Given the description of an element on the screen output the (x, y) to click on. 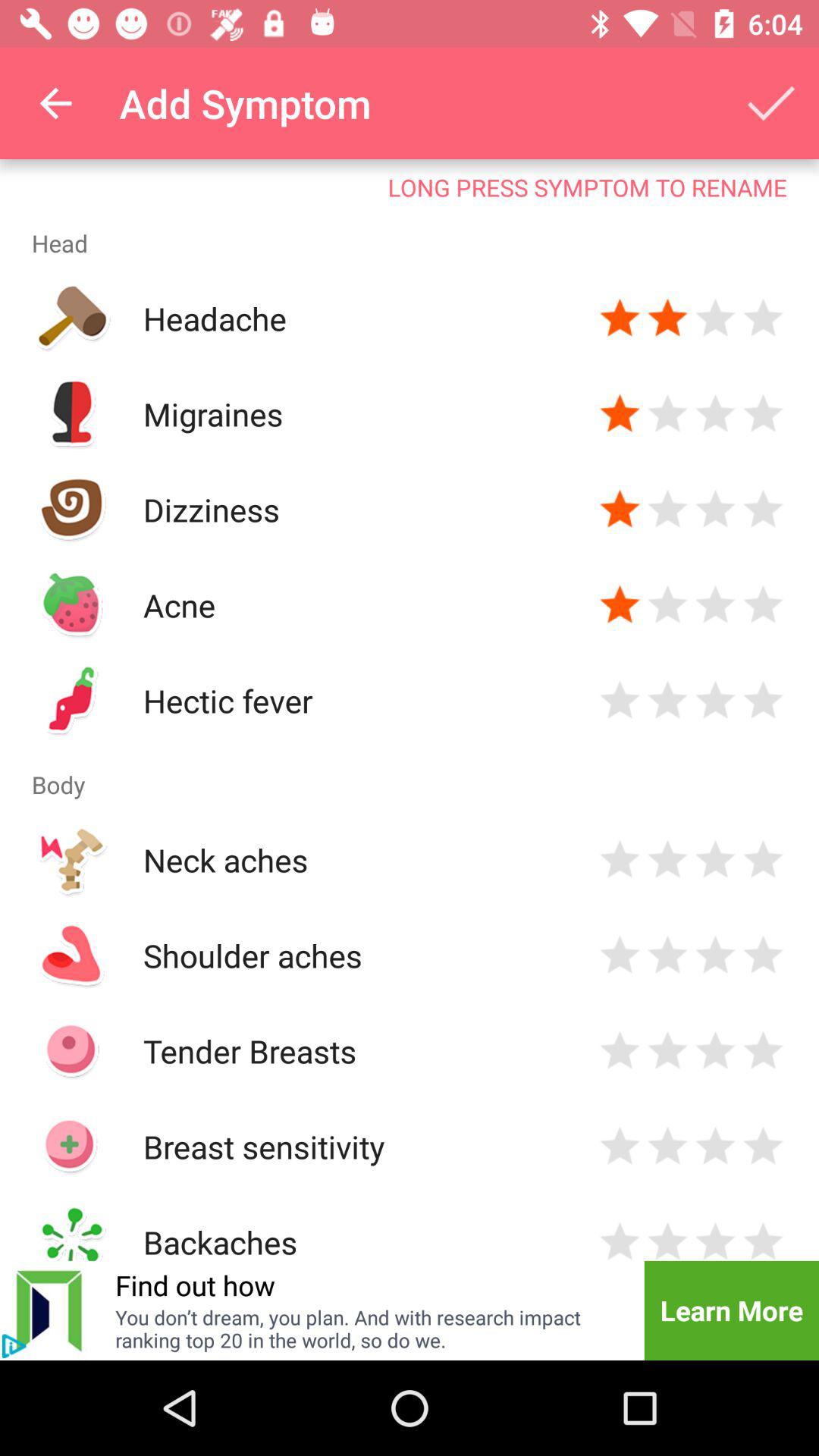
rate two stars (667, 700)
